Given the description of an element on the screen output the (x, y) to click on. 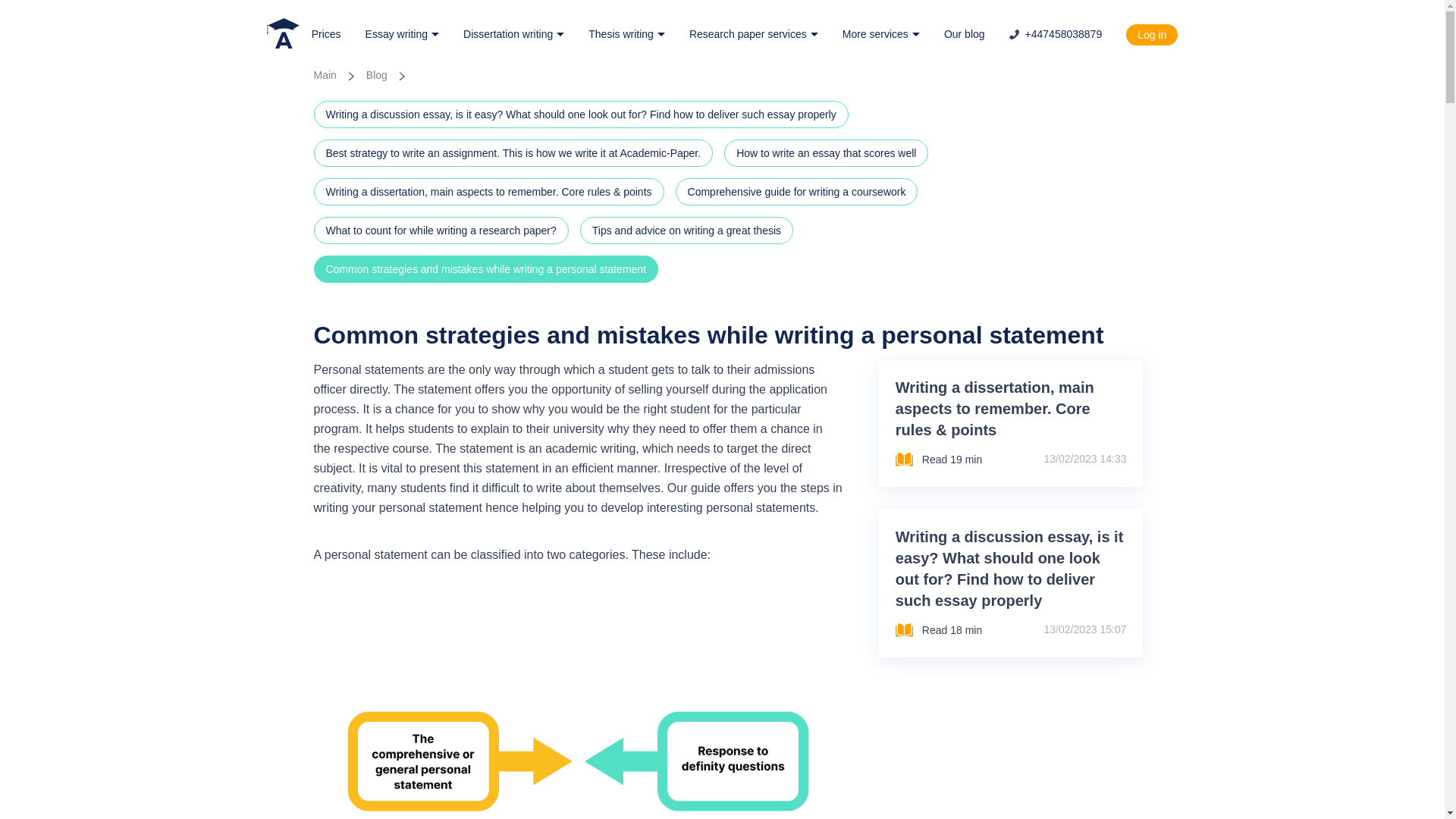
Essay writing (402, 34)
Prices (325, 34)
Research paper services (753, 34)
Dissertation writing (513, 34)
More services (881, 34)
Thesis writing (626, 34)
